Given the description of an element on the screen output the (x, y) to click on. 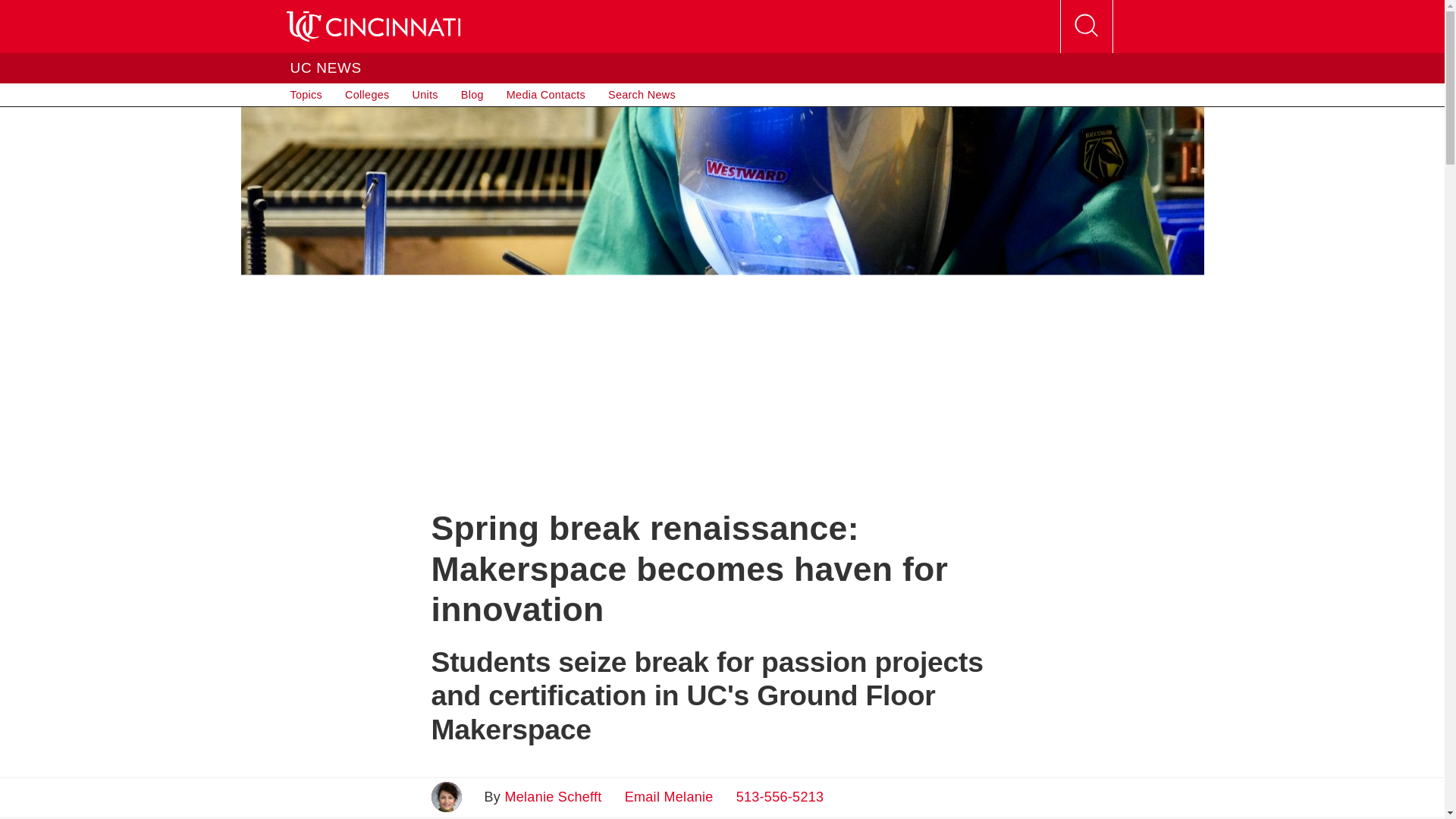
magnifying glass (1086, 26)
Topics (306, 94)
magnifying glass (1085, 25)
UC NEWS (325, 67)
Colleges (366, 94)
